Given the description of an element on the screen output the (x, y) to click on. 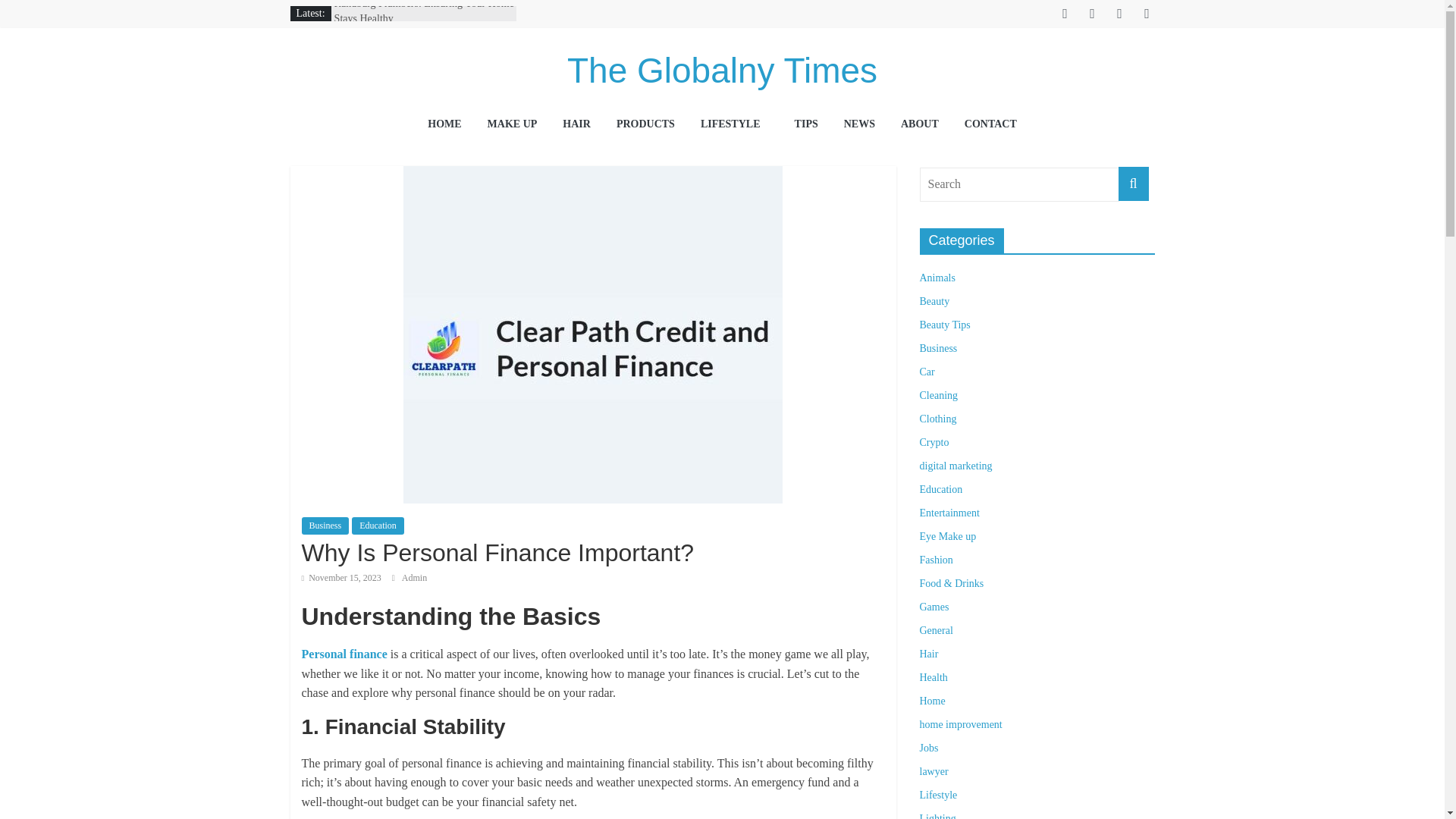
Randburg Plumbers: Ensuring Your Home Stays Healthy (423, 12)
Car (926, 371)
Animals (936, 277)
MAKE UP (512, 125)
LIFESTYLE (734, 125)
PRODUCTS (645, 125)
2:16 pm (341, 577)
Education (378, 524)
Beauty (933, 301)
ABOUT (920, 125)
